Given the description of an element on the screen output the (x, y) to click on. 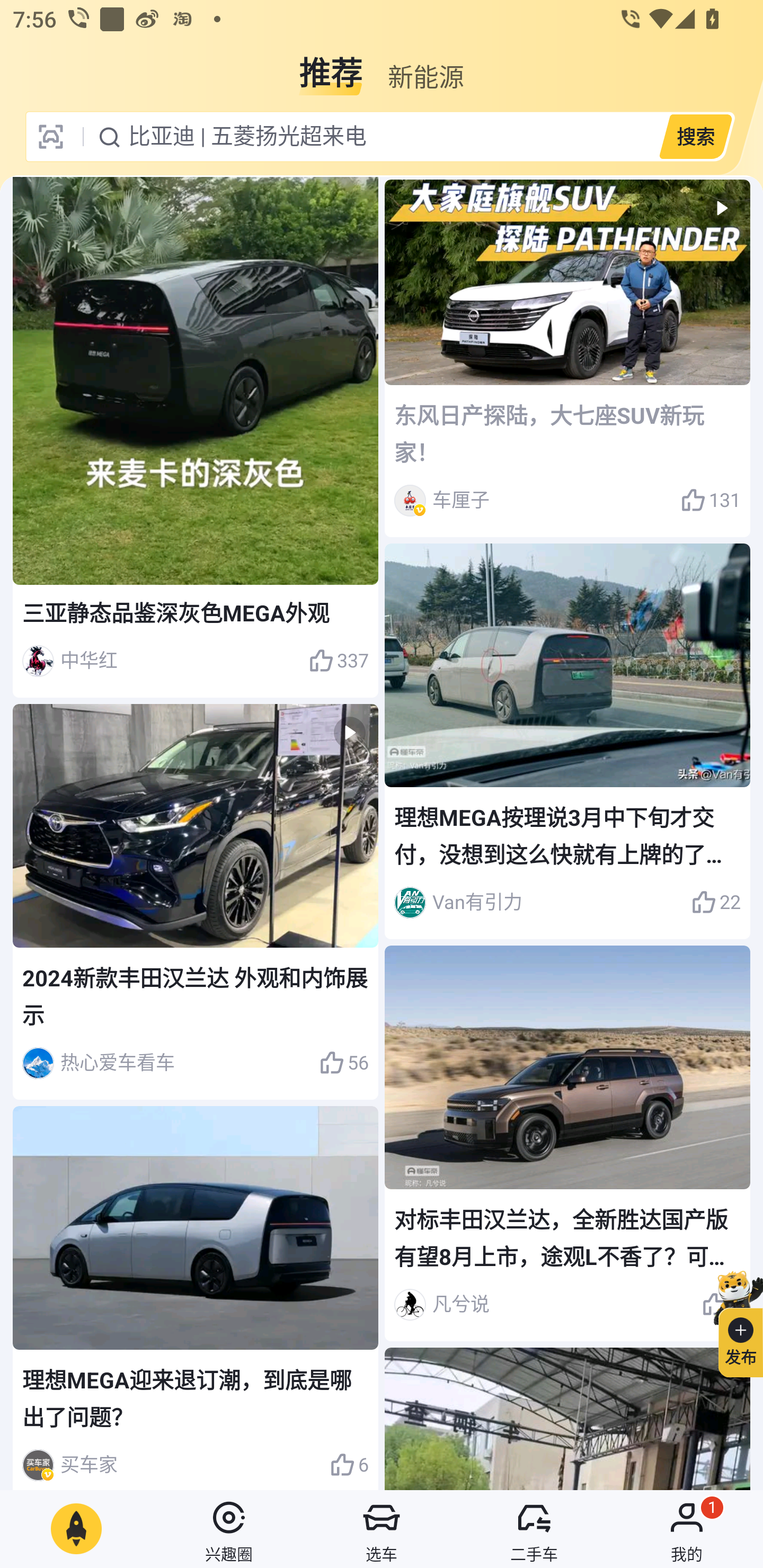
推荐 (330, 65)
新能源 (425, 65)
搜索 (695, 136)
三亚静态品鉴深灰色MEGA外观 中华红 337 (195, 437)
 东风日产探陆，大七座SUV新玩家！ 车厘子 131 (567, 358)
131 (710, 499)
337 (338, 660)
 2024新款丰田汉兰达 外观和内饰展示 热心爱车看车 56 (195, 901)
22 (715, 902)
56 (343, 1062)
理想MEGA迎来退订潮，到底是哪出了问题？ 买车家 6 (195, 1297)
发布 (732, 1321)
6 (348, 1464)
 兴趣圈 (228, 1528)
 选车 (381, 1528)
 二手车 (533, 1528)
 我的 (686, 1528)
